Given the description of an element on the screen output the (x, y) to click on. 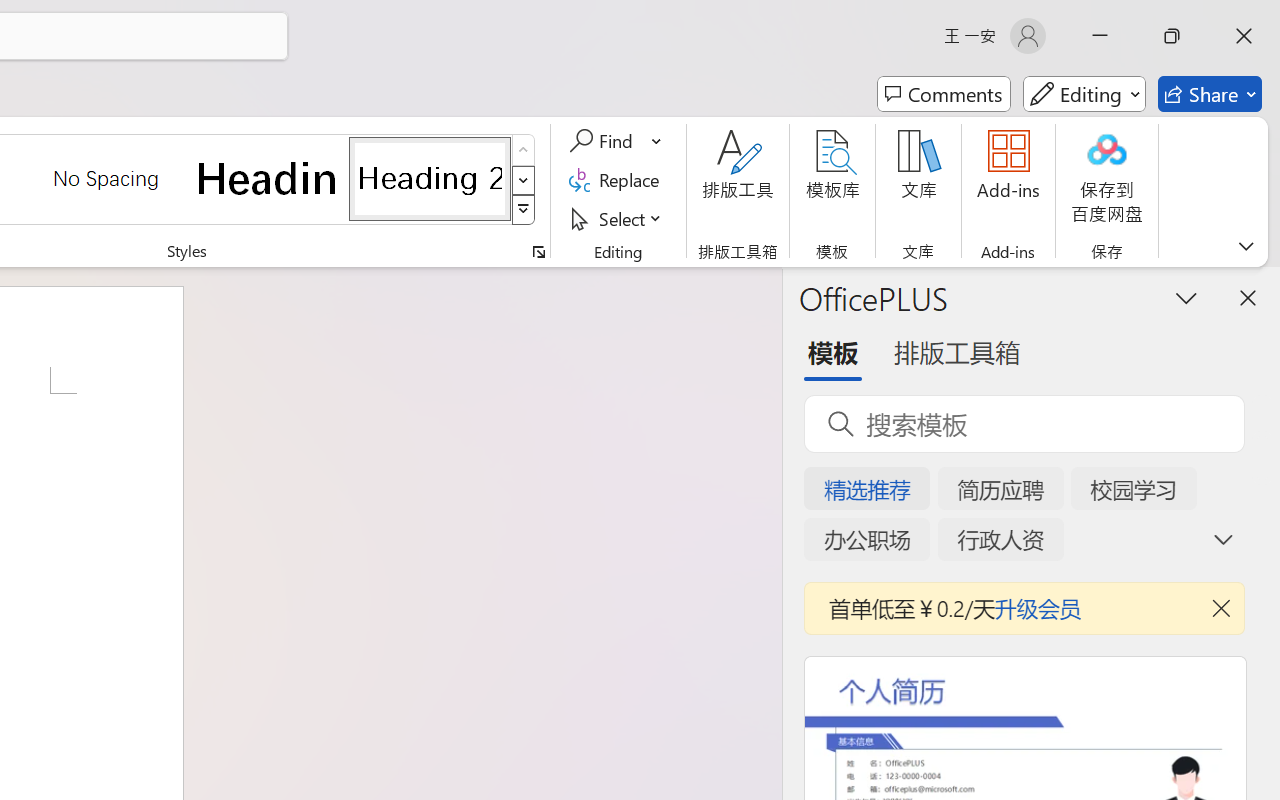
Heading 1 (267, 178)
Ribbon Display Options (1246, 245)
Task Pane Options (1186, 297)
Restore Down (1172, 36)
Styles... (538, 252)
Styles (523, 209)
Find (604, 141)
Minimize (1099, 36)
Row up (523, 150)
